Given the description of an element on the screen output the (x, y) to click on. 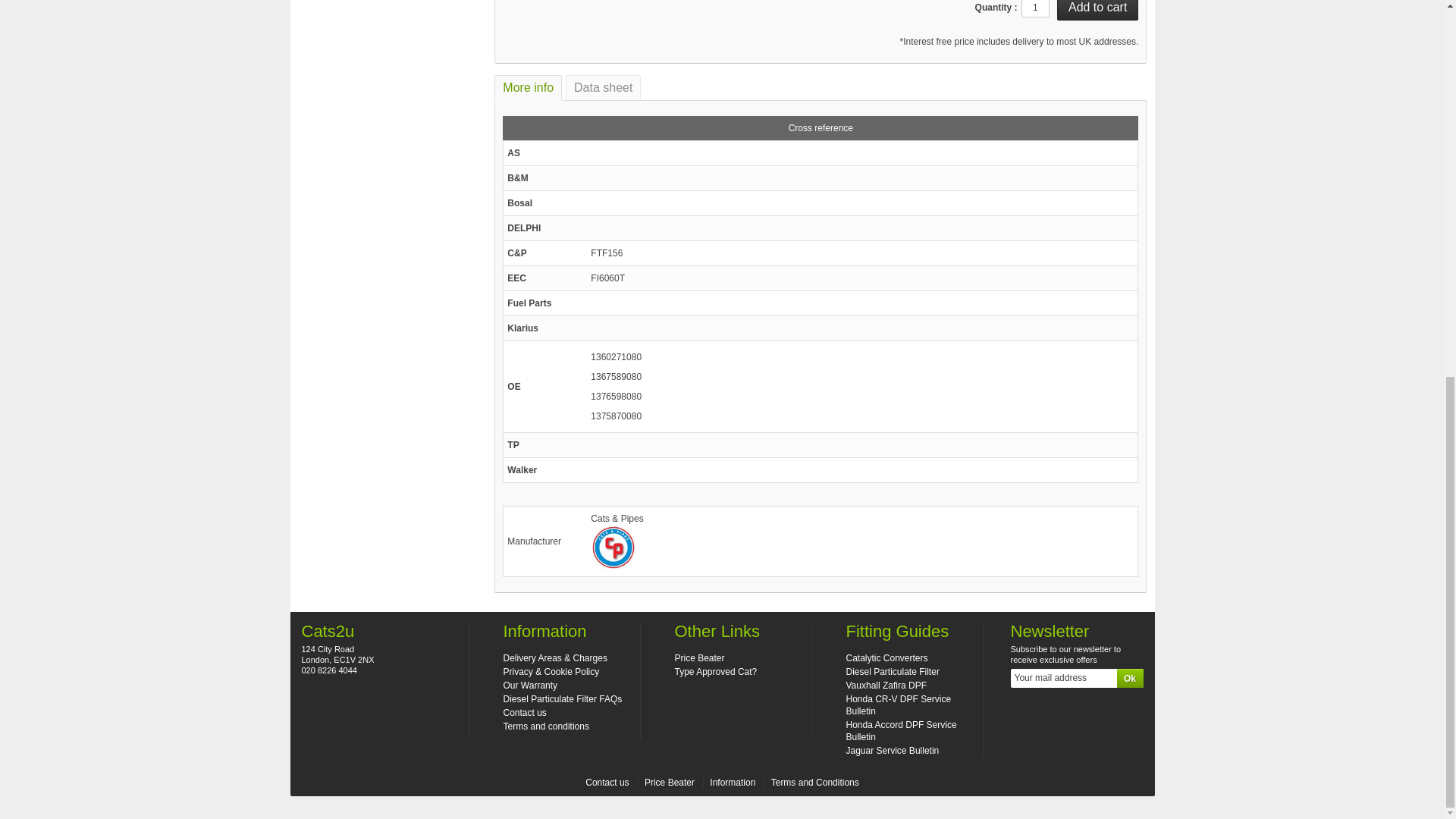
Terms and conditions (546, 726)
Your mail address (1076, 678)
Data sheet (603, 87)
Add to cart (1097, 10)
Our Warranty (530, 685)
1 (1035, 8)
More info (528, 87)
Contact us (525, 712)
Add to cart (1097, 10)
Diesel Particulate Filter FAQs (563, 698)
